Given the description of an element on the screen output the (x, y) to click on. 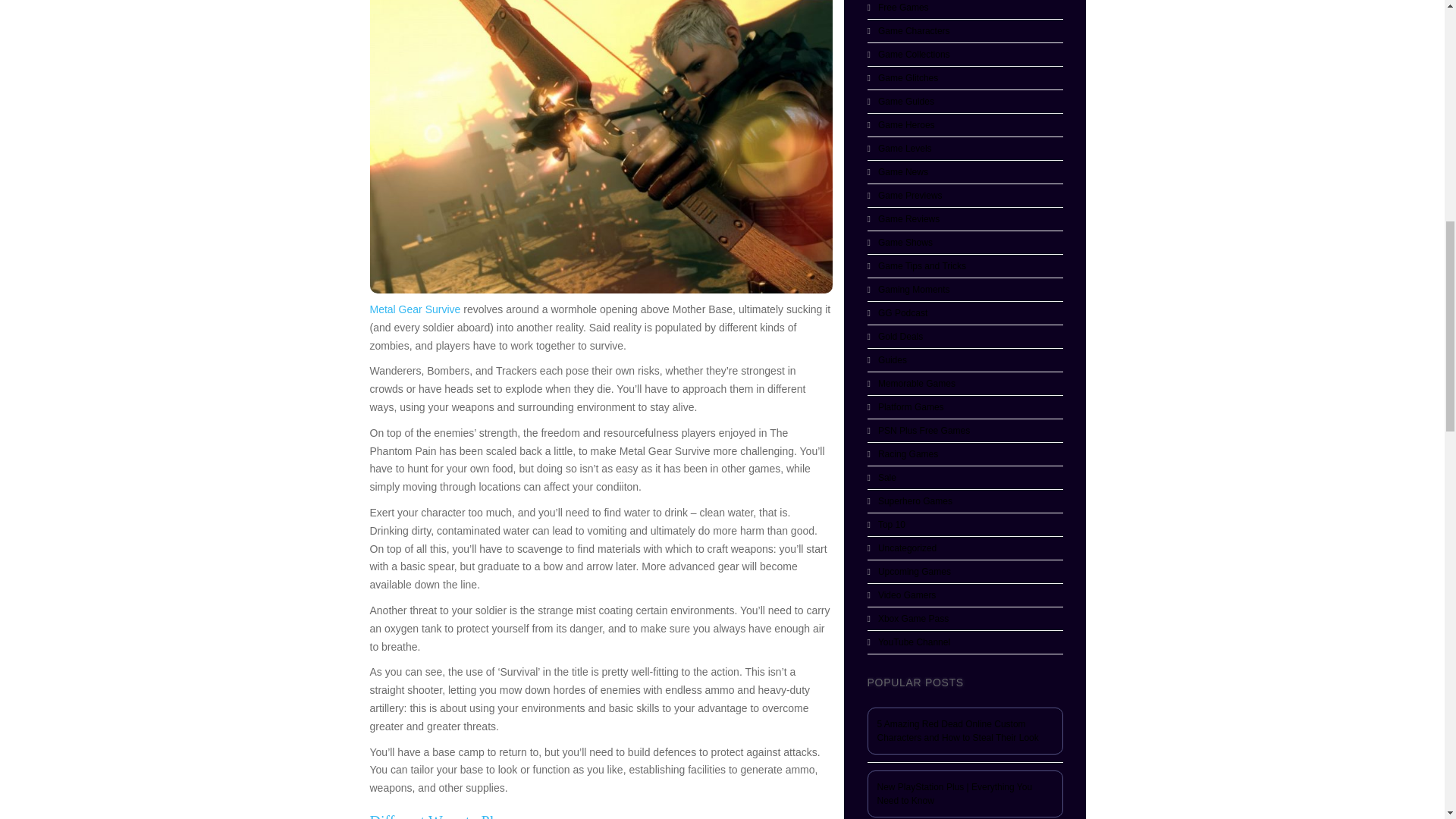
Metal Gear Survive (415, 309)
